Given the description of an element on the screen output the (x, y) to click on. 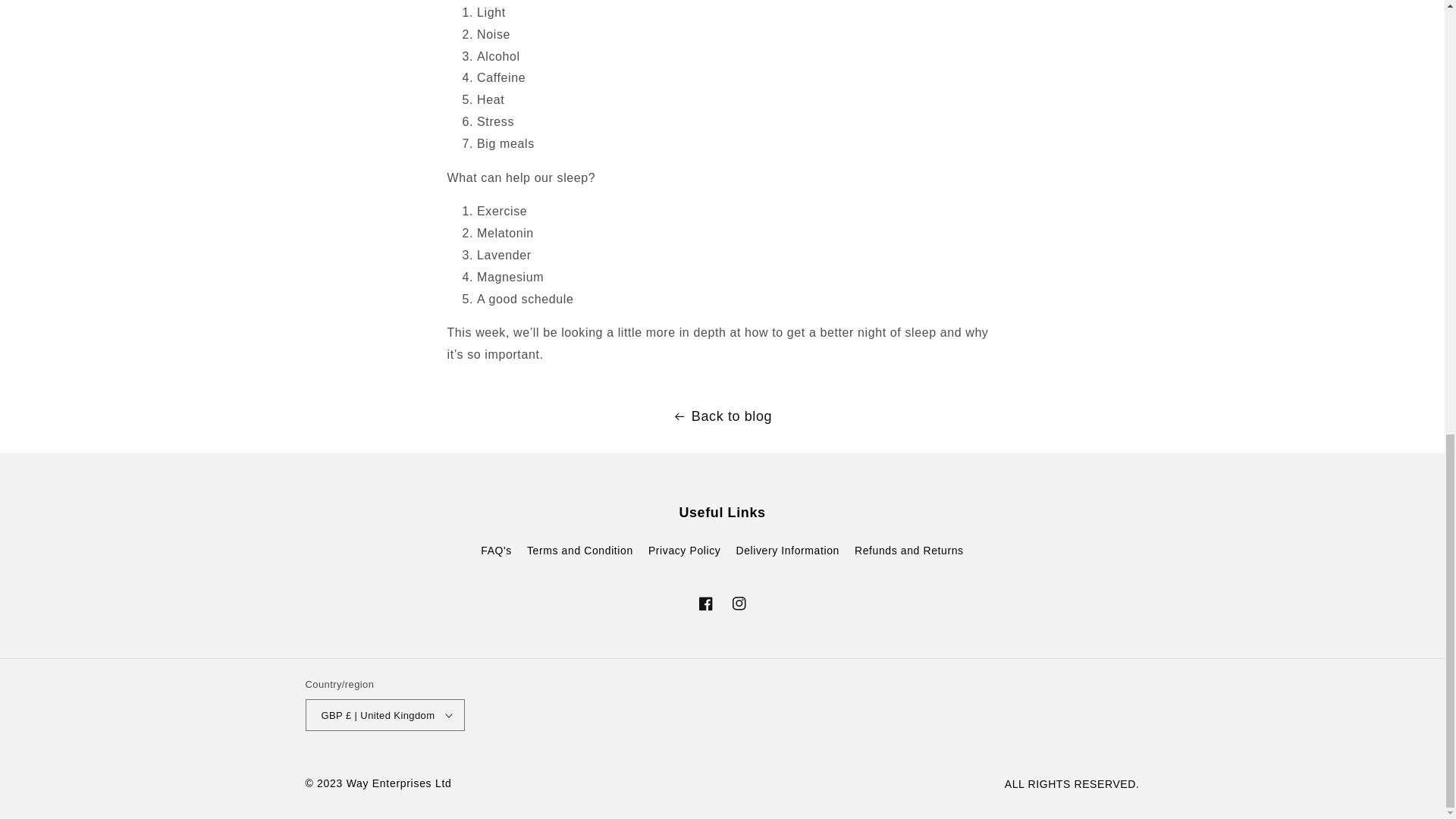
Delivery Information (787, 550)
FAQ's (496, 552)
Terms and Condition (580, 550)
Privacy Policy (683, 550)
